Given the description of an element on the screen output the (x, y) to click on. 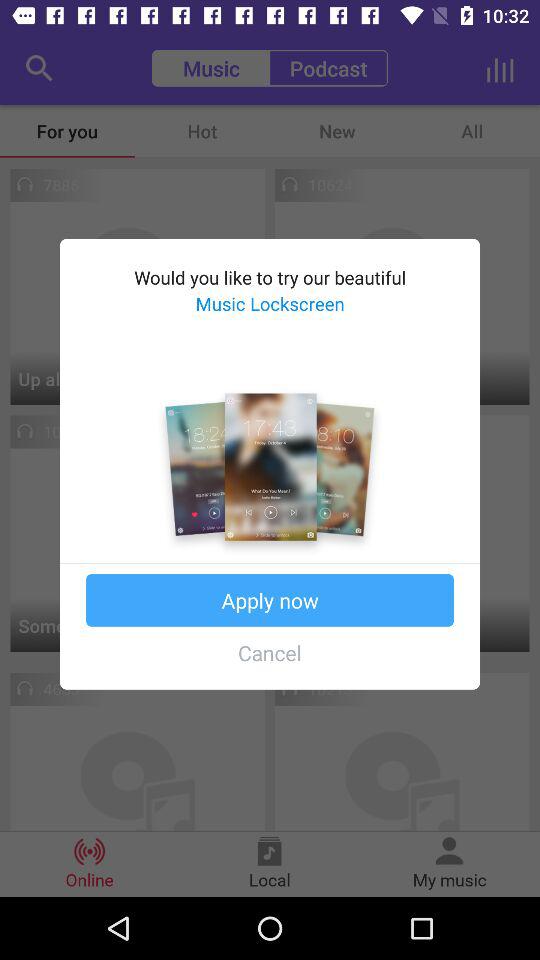
tap the item at the bottom (269, 652)
